Given the description of an element on the screen output the (x, y) to click on. 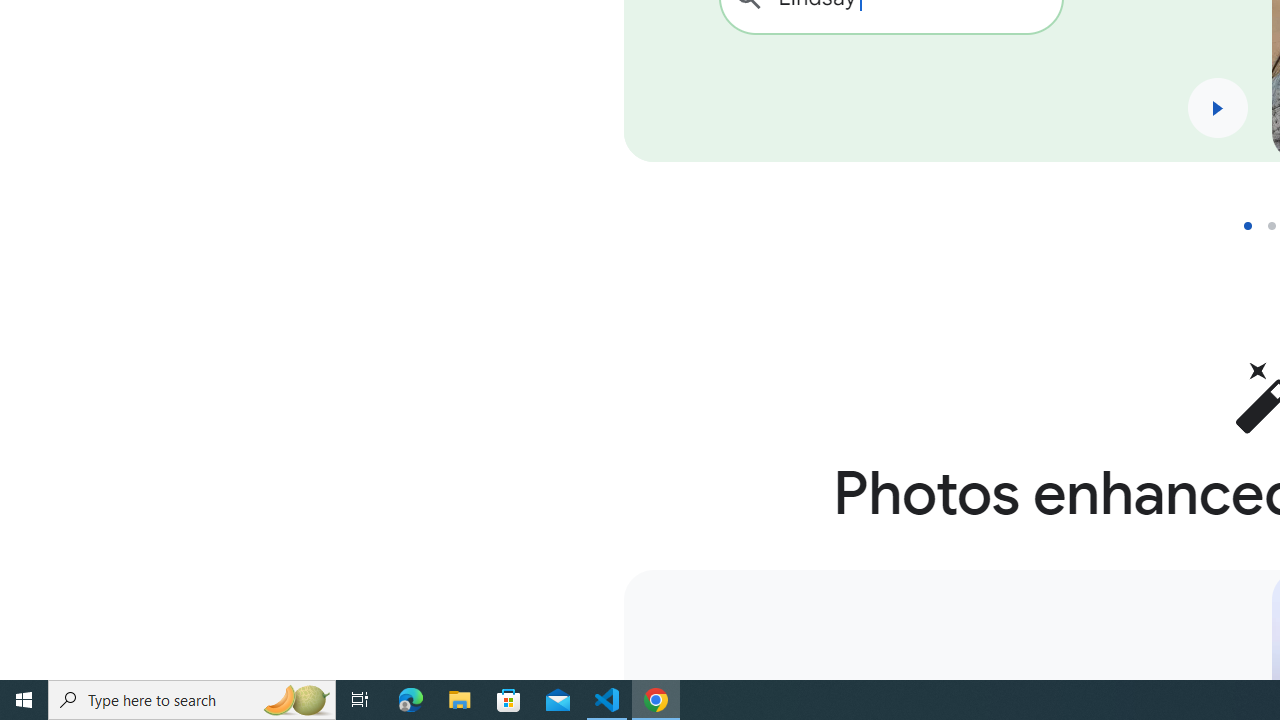
Play (1217, 107)
Go to slide 1 (1255, 225)
